Given the description of an element on the screen output the (x, y) to click on. 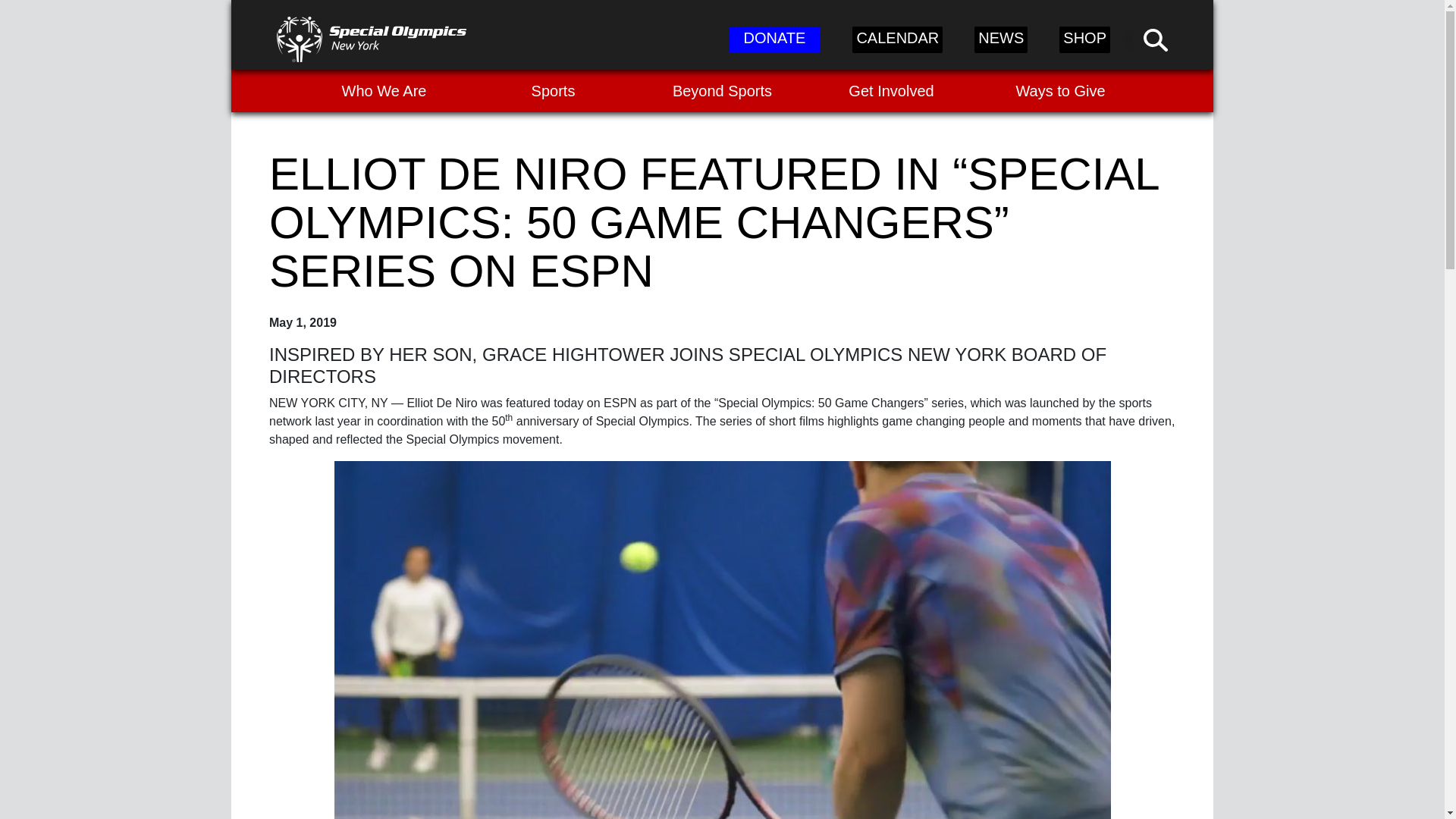
SHOP (1084, 39)
Beyond Sports (721, 90)
Get Involved (890, 90)
CALENDAR (896, 39)
Who We Are (384, 90)
Sports (553, 90)
Ways to Give (1059, 90)
DONATE (775, 39)
NEWS (1000, 39)
